Given the description of an element on the screen output the (x, y) to click on. 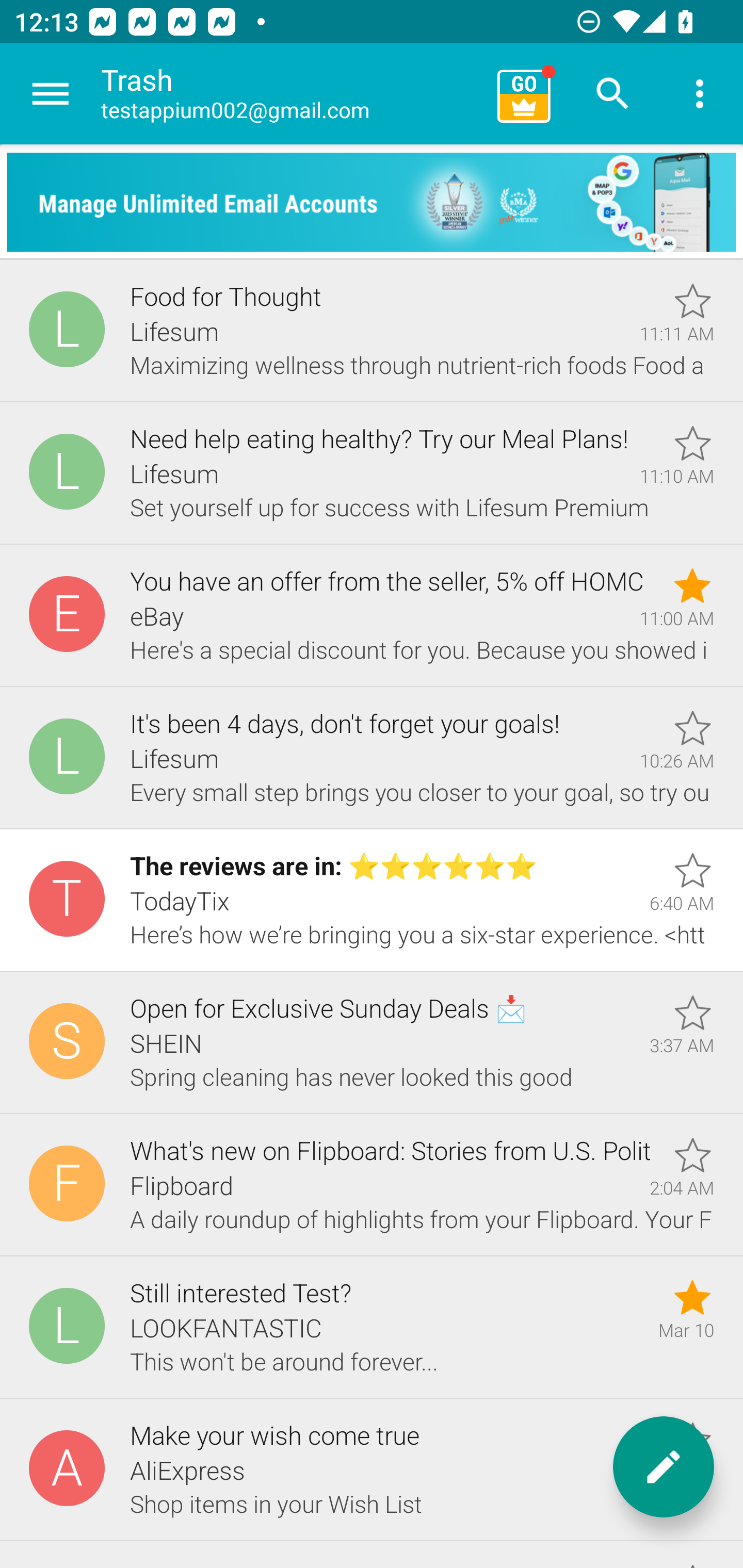
Navigate up (50, 93)
Trash testappium002@gmail.com (291, 93)
Search (612, 93)
More options (699, 93)
New message (663, 1466)
